Given the description of an element on the screen output the (x, y) to click on. 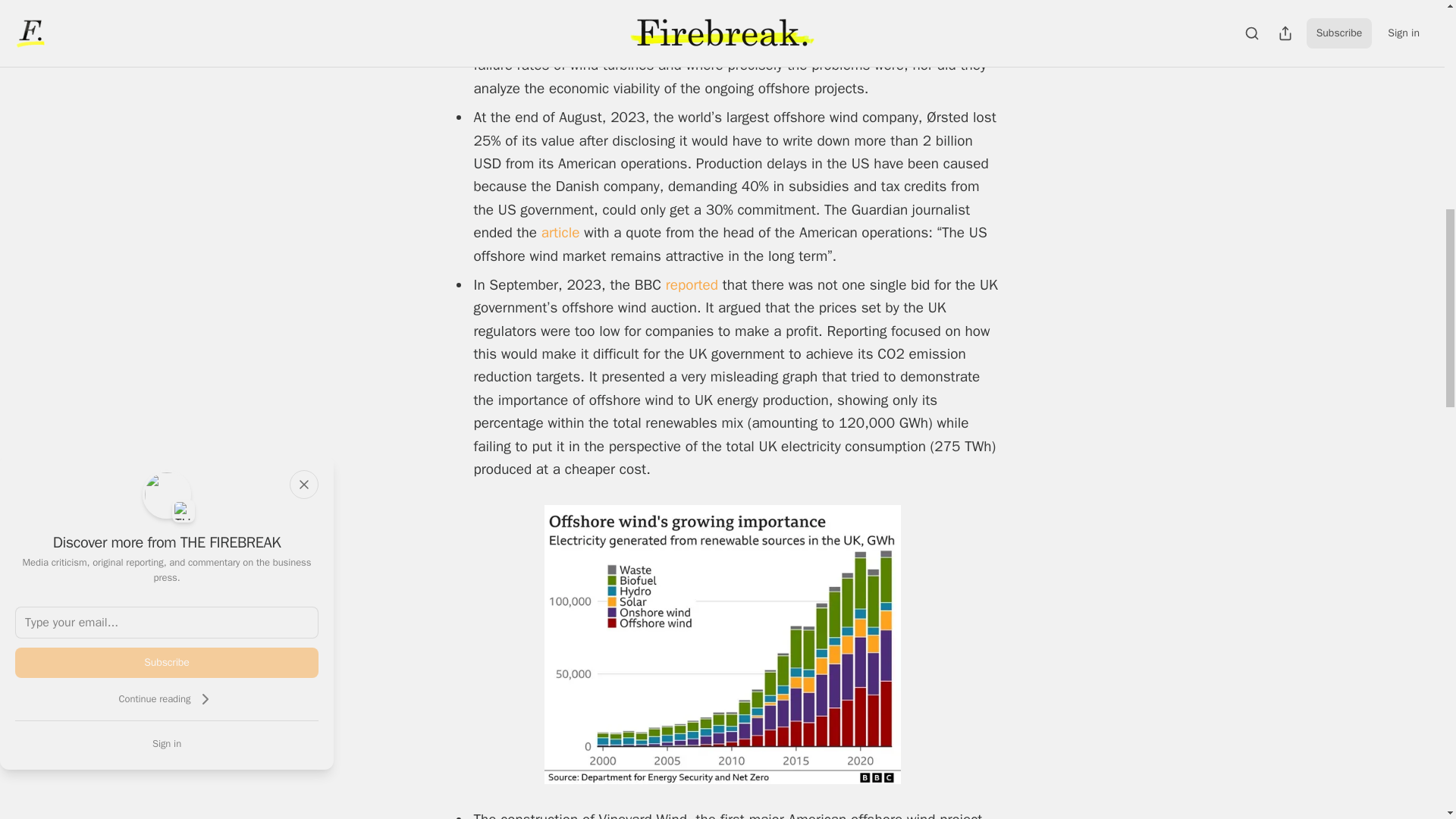
reported (693, 285)
Reuters (836, 42)
article (563, 232)
Sign in (166, 743)
Subscribe (166, 662)
